Given the description of an element on the screen output the (x, y) to click on. 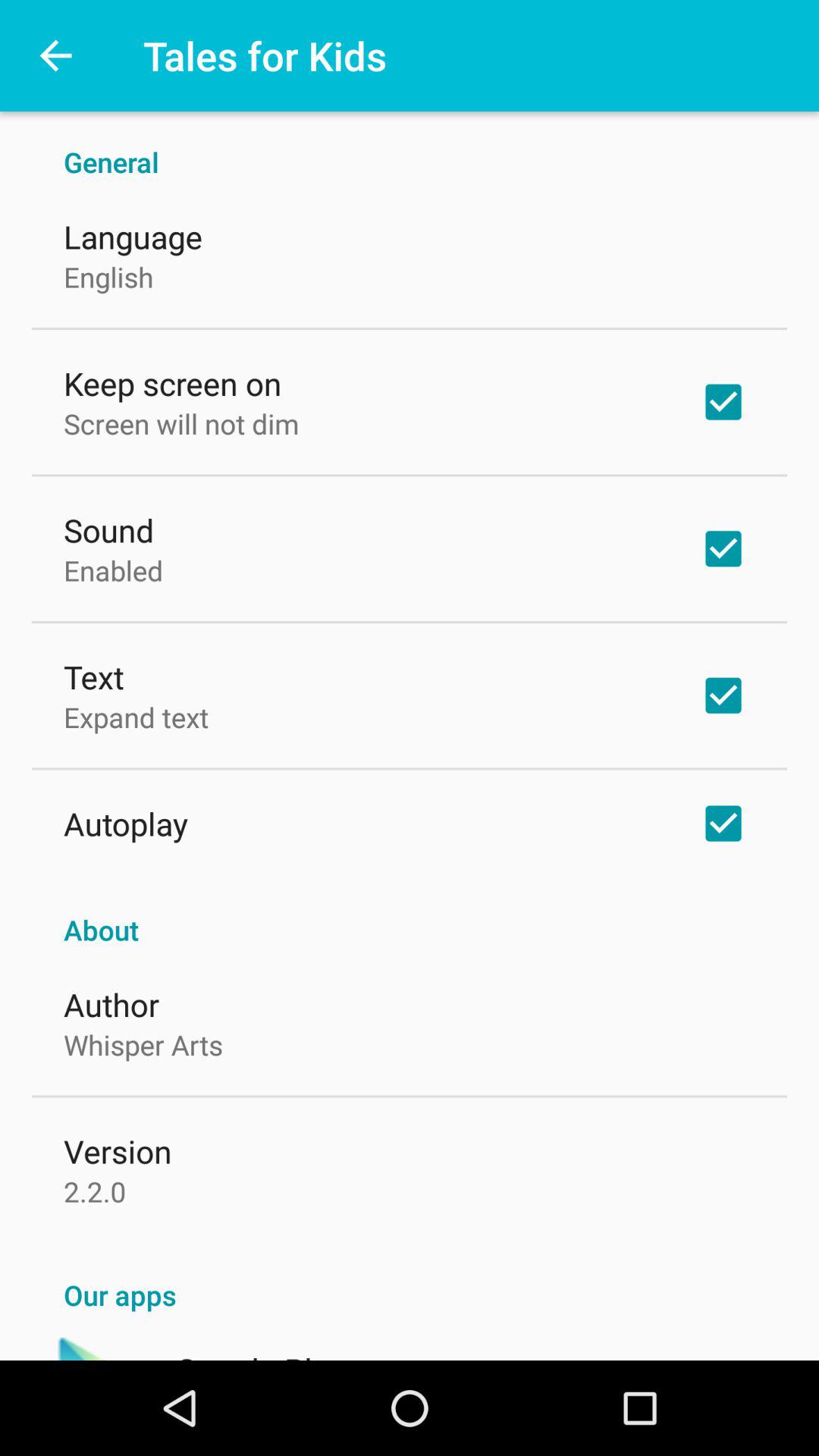
choose the icon above the autoplay (135, 716)
